Given the description of an element on the screen output the (x, y) to click on. 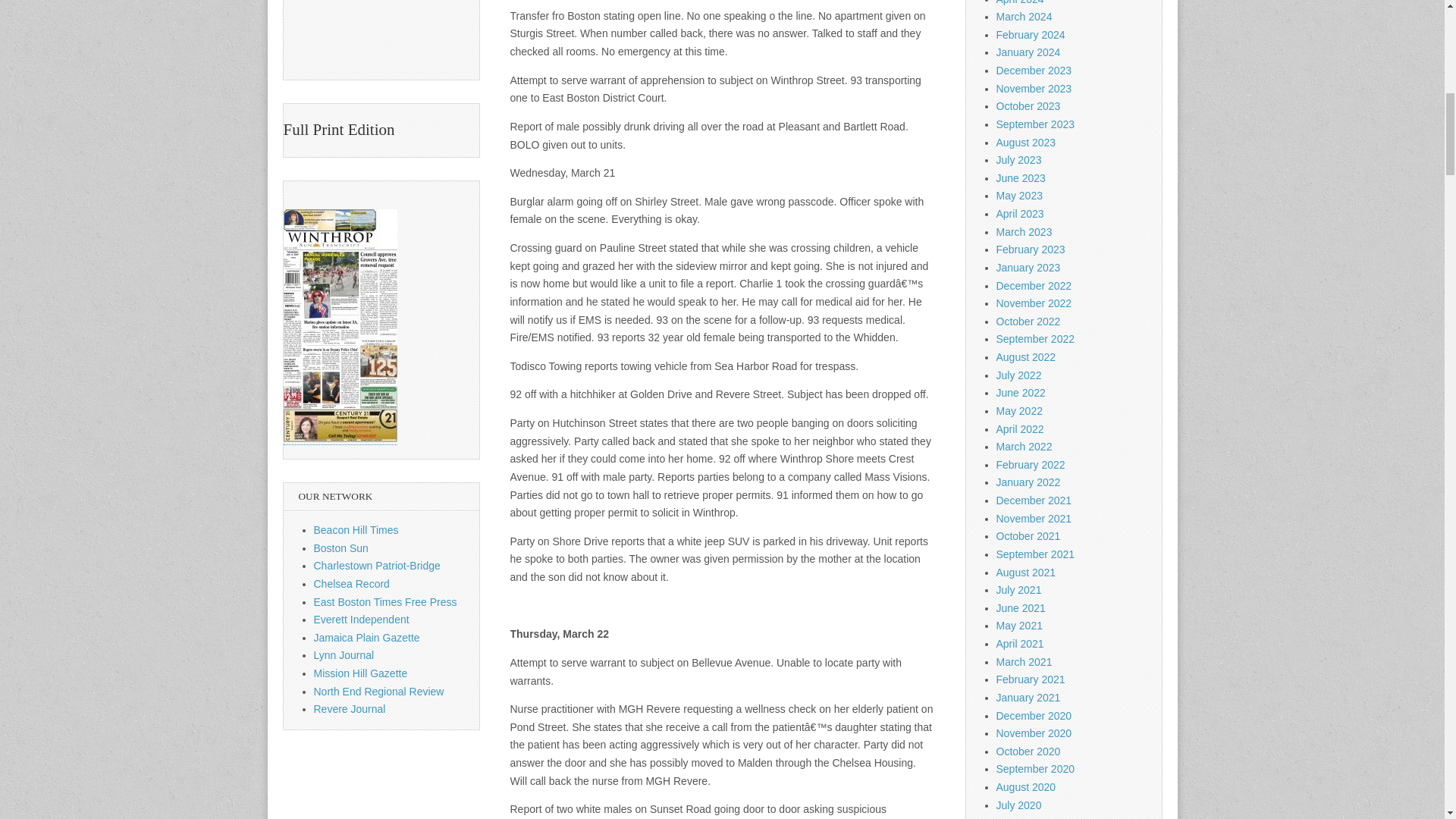
Lynn Journal (344, 654)
Mission Hill Gazette (360, 673)
Boston Sun (341, 548)
Revere Journal (349, 708)
North End Regional Review (379, 691)
Beacon Hill Times (356, 530)
Everett Independent (361, 619)
Jamaica Plain Gazette (367, 637)
Charlestown Patriot-Bridge (377, 565)
Chelsea Record (352, 583)
East Boston Times Free Press (385, 602)
